Given the description of an element on the screen output the (x, y) to click on. 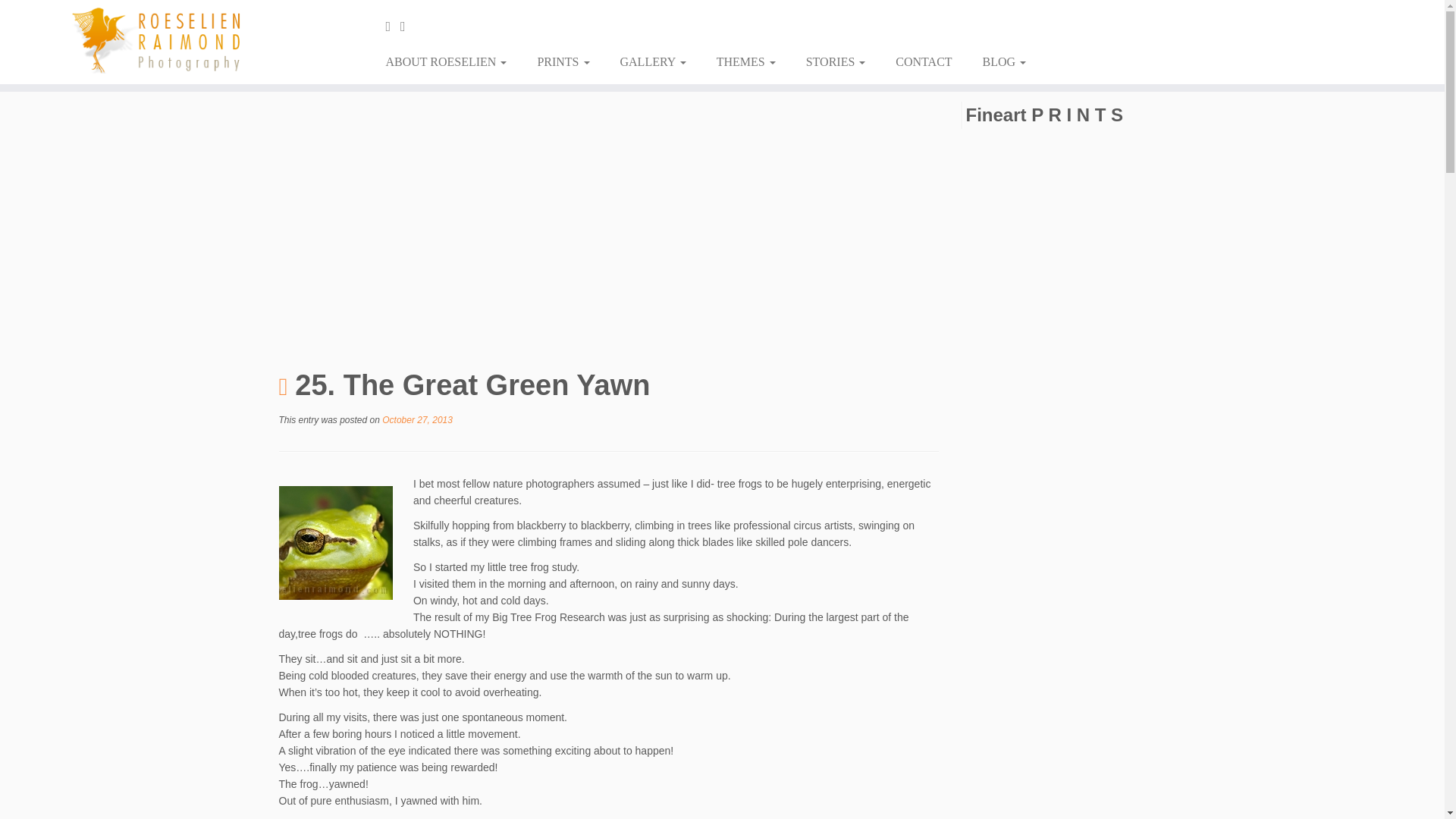
ART SHOP (562, 62)
PRINTS (562, 62)
Follow me on Facebook (392, 26)
GALLERY (653, 62)
Follow me on Instagram (407, 26)
Gallery Roeselien Raimond Fine Art Photos (653, 62)
ABOUT ROESELIEN (451, 62)
